Given the description of an element on the screen output the (x, y) to click on. 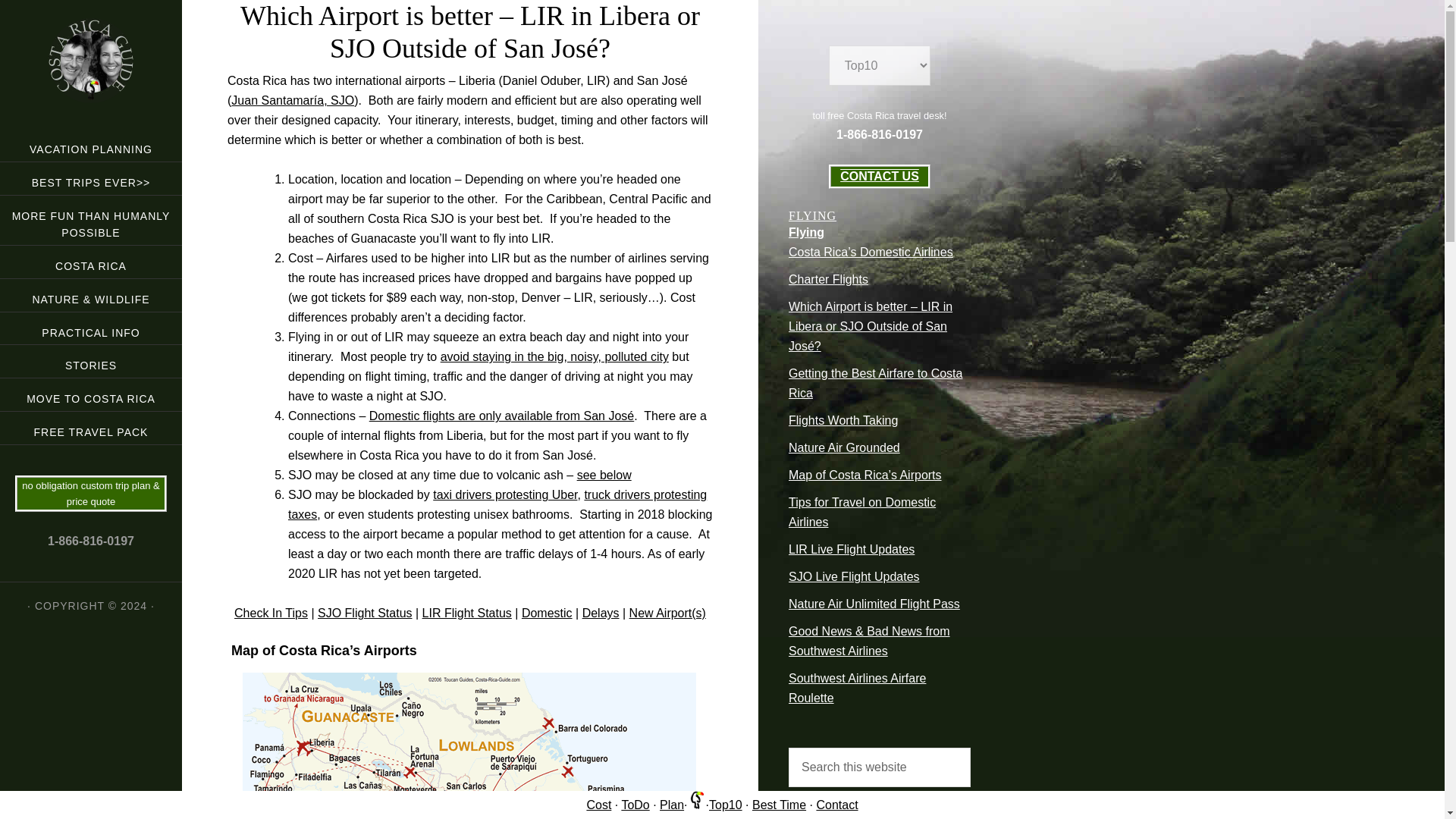
contact us with questions or travel requests (836, 804)
COSTA RICA (91, 261)
The best time to visit Costa Rica (779, 804)
MORE FUN THAN HUMANLY POSSIBLE (91, 220)
tours, activities and adventures (635, 804)
ten best things to do in Costa Rica (725, 804)
VACATION PLANNING (91, 144)
